Given the description of an element on the screen output the (x, y) to click on. 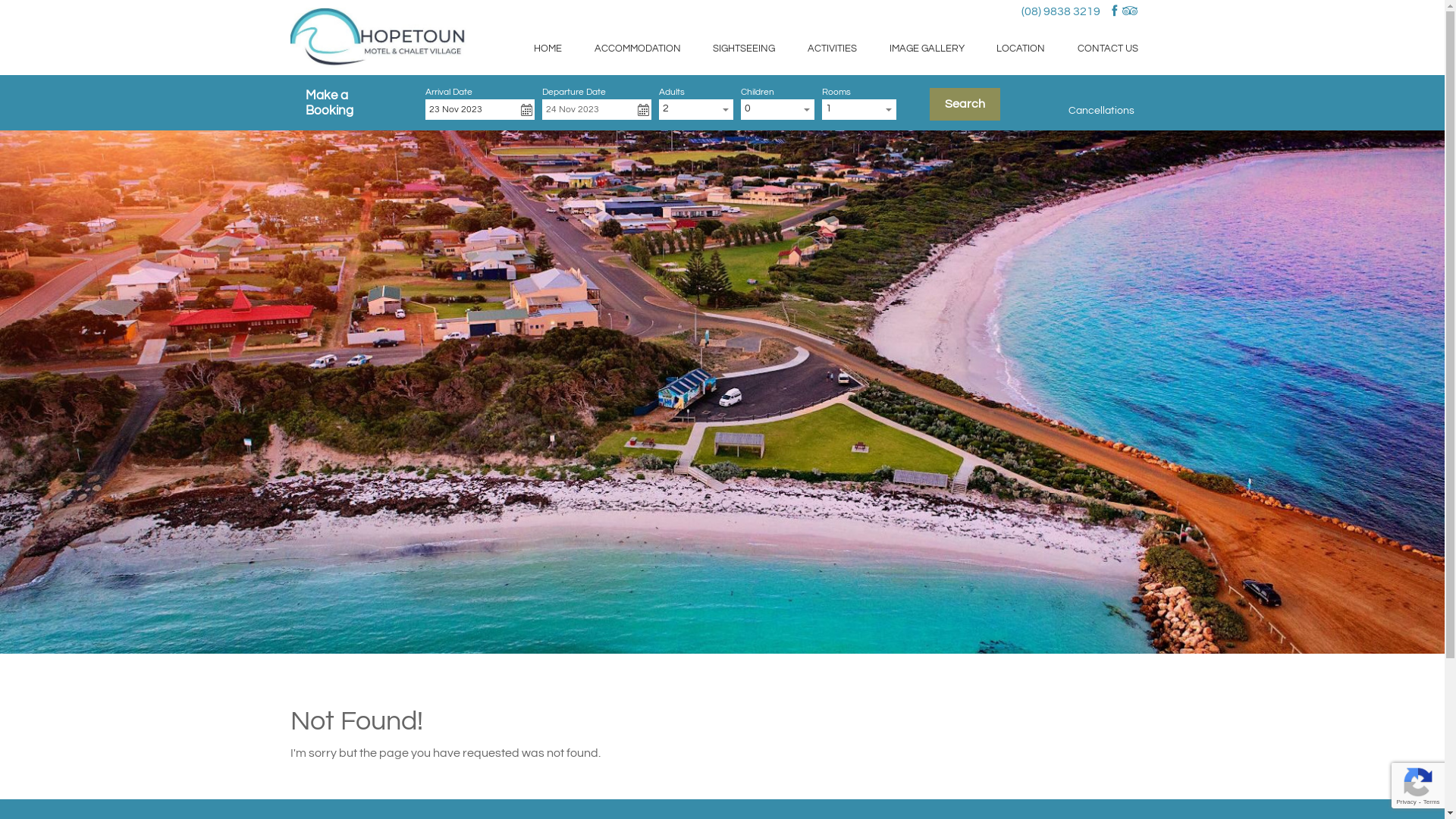
SIGHTSEEING Element type: text (743, 48)
Cancellations Element type: text (1101, 110)
ACCOMMODATION Element type: text (636, 48)
LOCATION Element type: text (1020, 48)
HOME Element type: text (547, 48)
Facebook Element type: hover (1114, 11)
ACTIVITIES Element type: text (832, 48)
Search Element type: text (964, 103)
(08) 9838 3219 Element type: text (1059, 11)
Tripadvisor Element type: hover (1130, 11)
IMAGE GALLERY Element type: text (926, 48)
CONTACT US Element type: text (1107, 48)
